Given the description of an element on the screen output the (x, y) to click on. 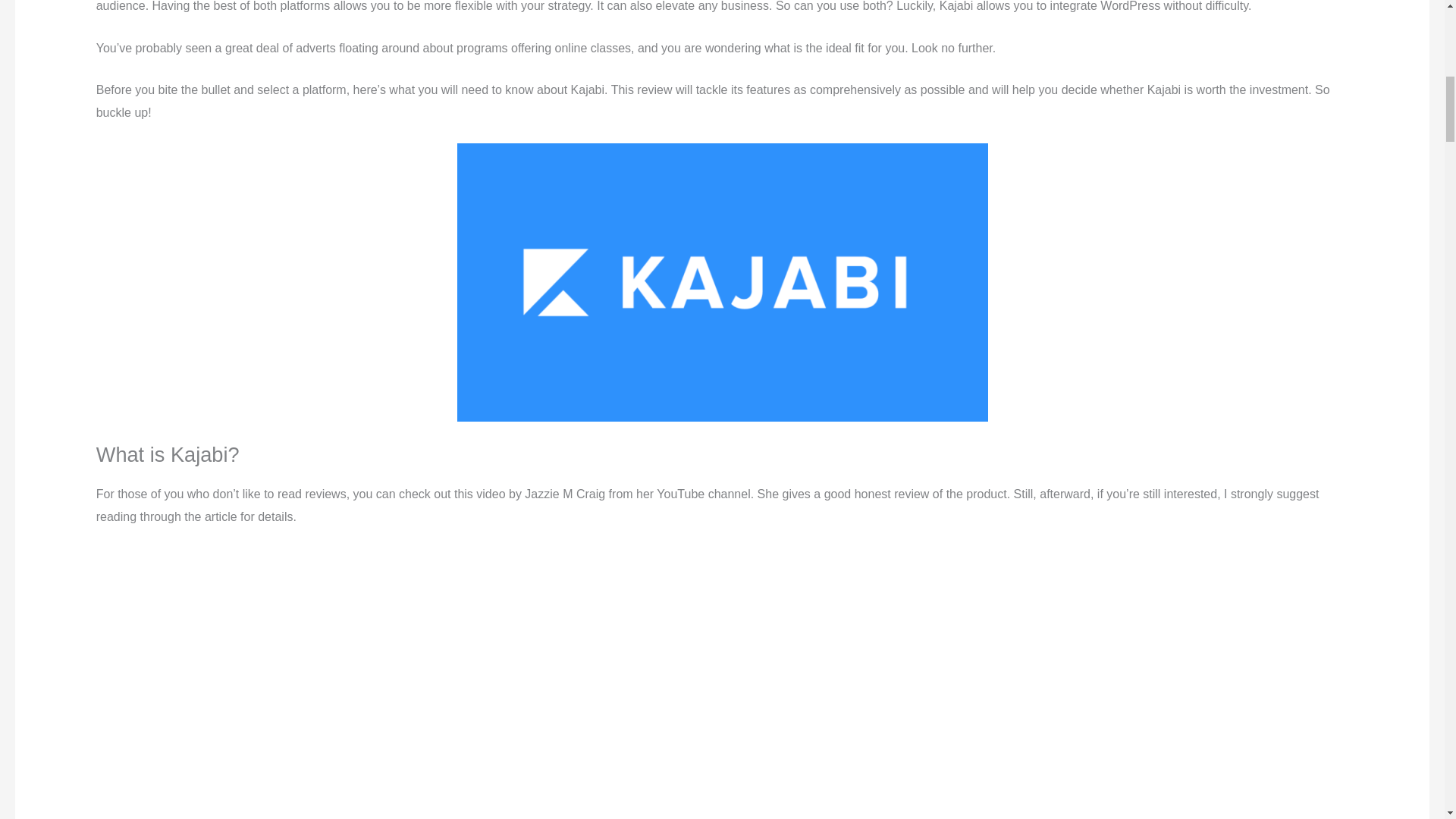
cloud-based (341, 818)
